Given the description of an element on the screen output the (x, y) to click on. 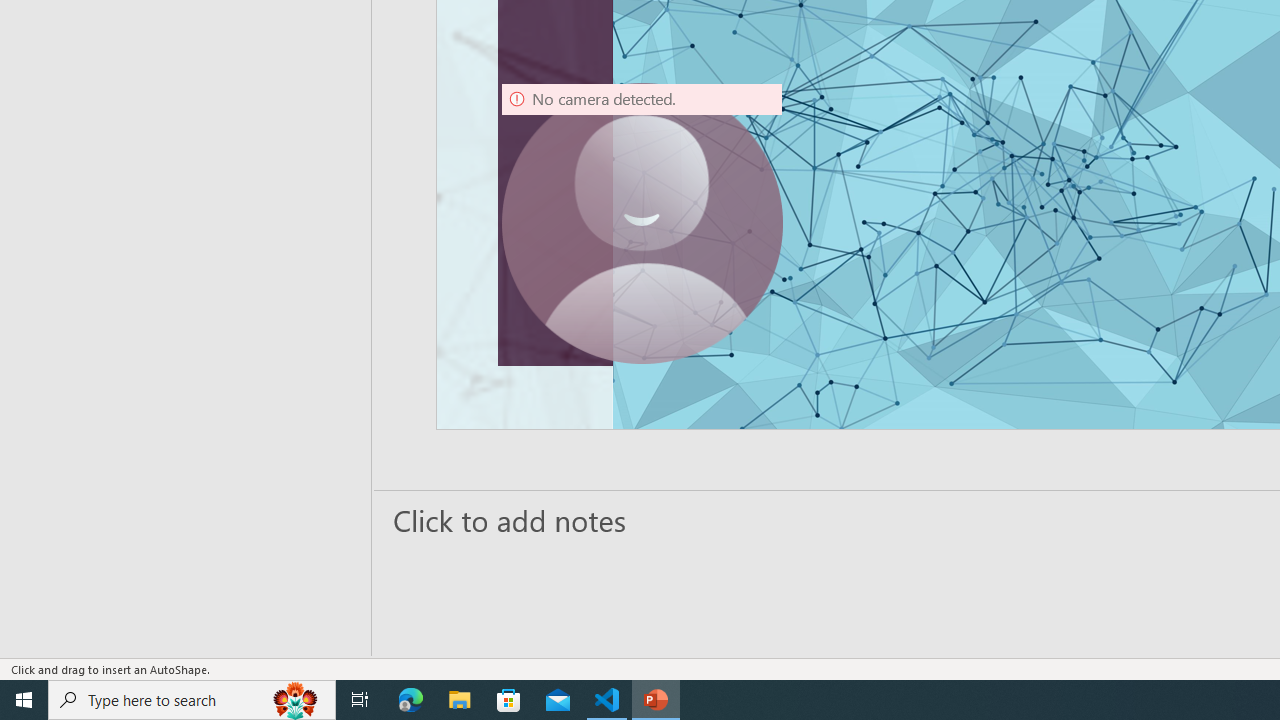
Camera 9, No camera detected. (641, 223)
